Given the description of an element on the screen output the (x, y) to click on. 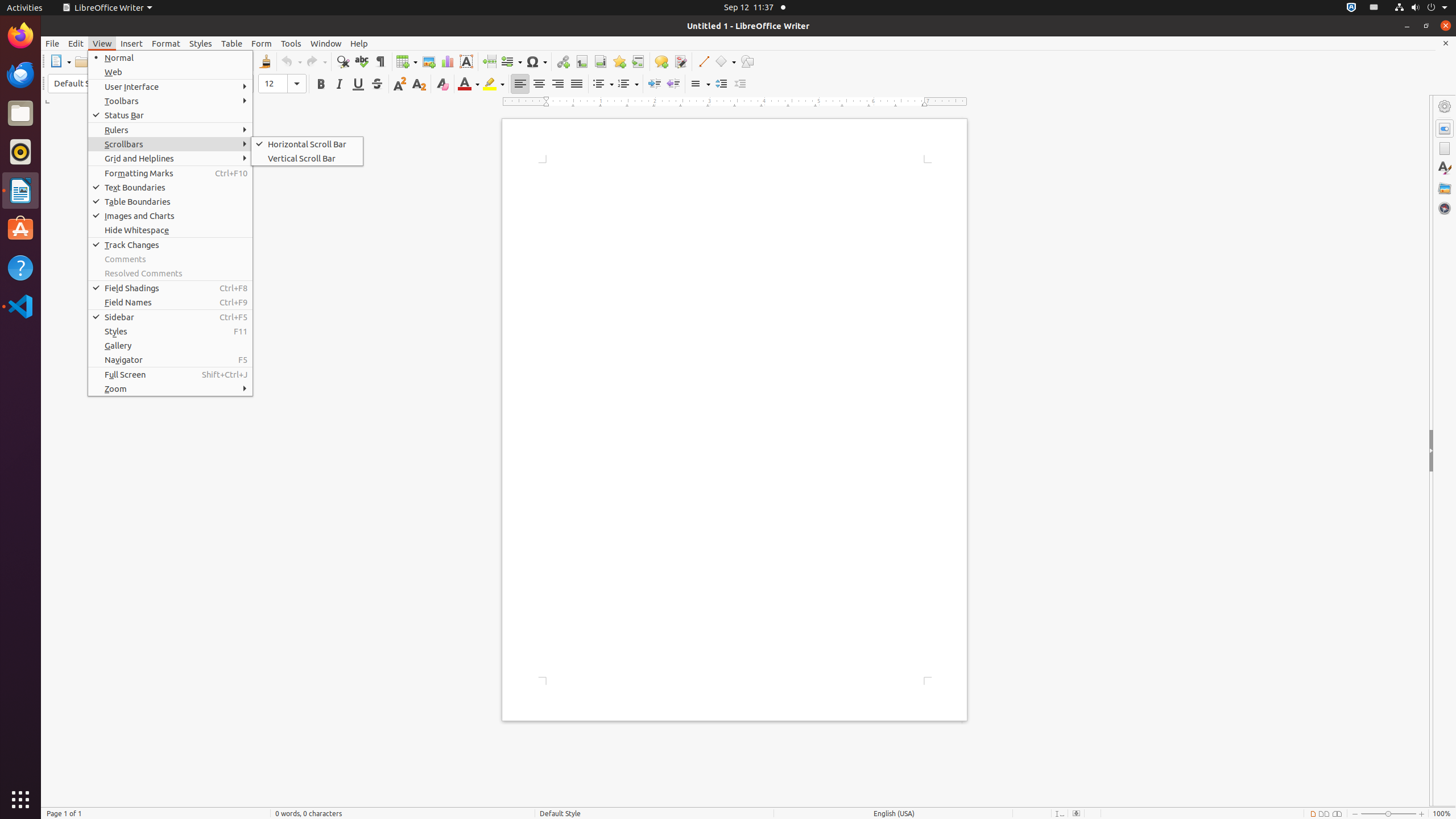
System Element type: menu (1420, 7)
LibreOffice Writer Element type: push-button (20, 190)
Zoom Element type: menu (170, 388)
Font Size Element type: combo-box (282, 83)
Underline Element type: push-button (357, 83)
